Given the description of an element on the screen output the (x, y) to click on. 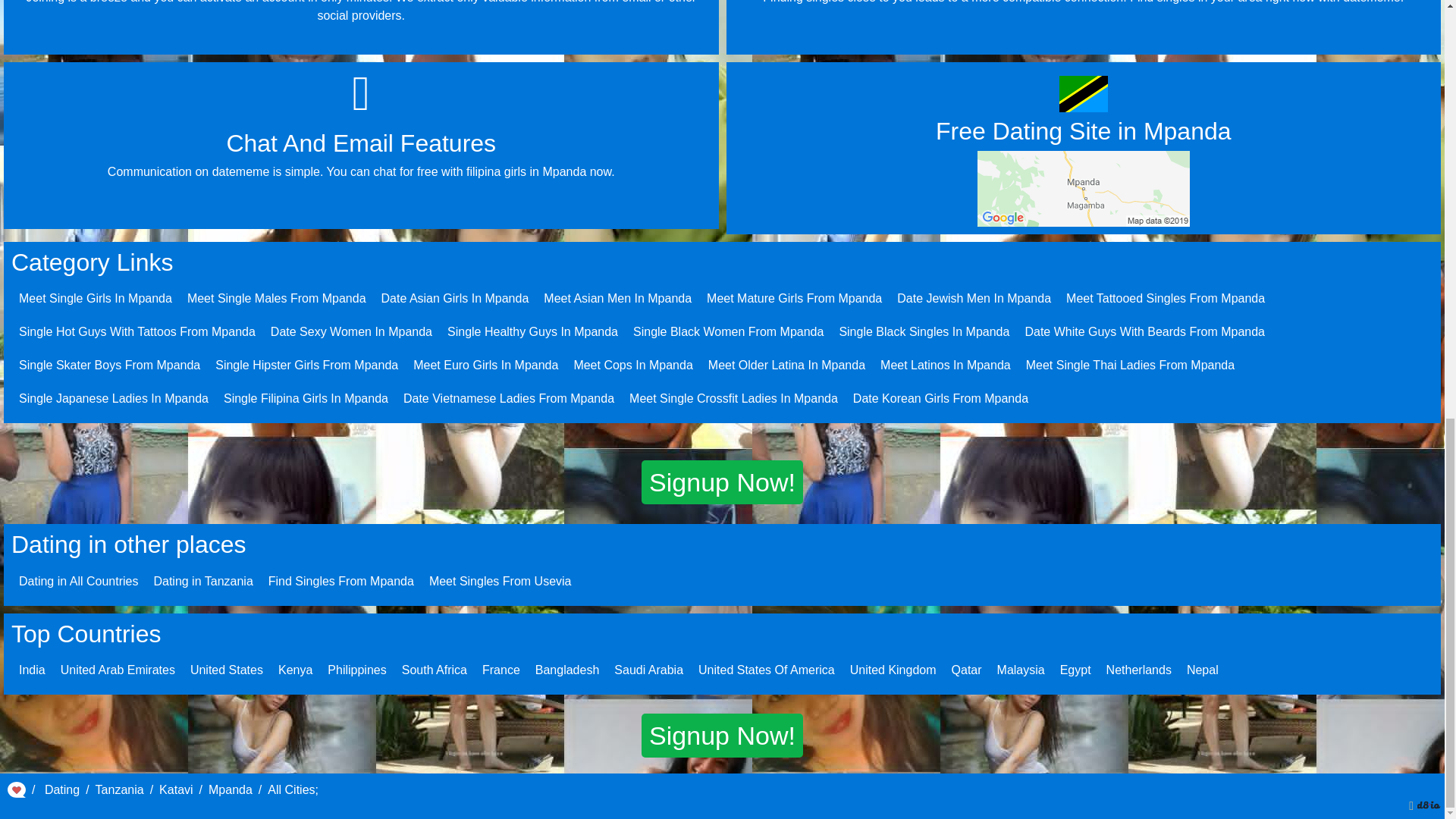
Date Asian Girls In Mpanda (455, 297)
Meet Single Males From Mpanda (276, 297)
Meet Asian Men In Mpanda (617, 297)
Meet Single Girls In Mpanda (94, 297)
